Given the description of an element on the screen output the (x, y) to click on. 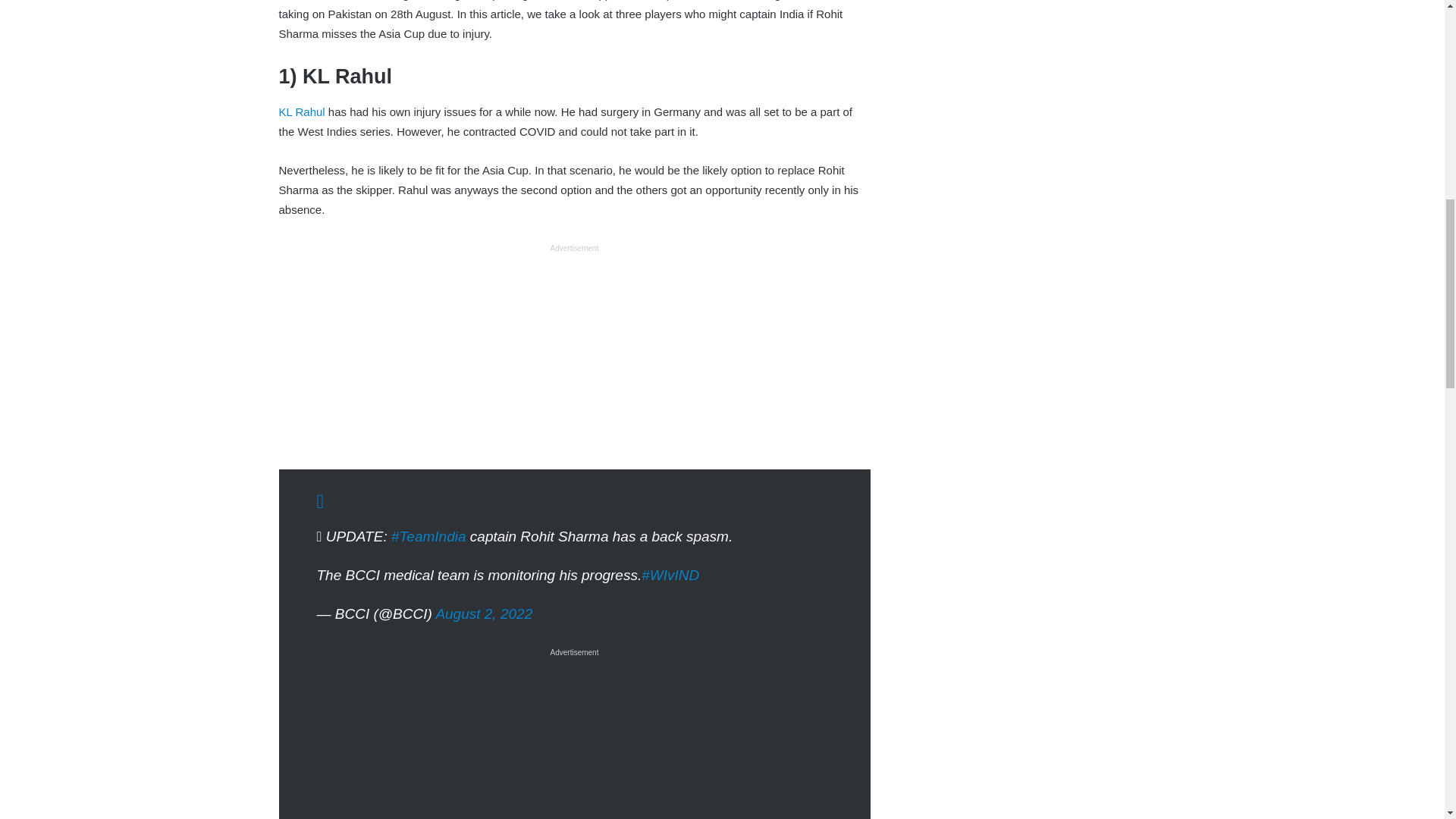
KL Rahul (301, 111)
August 2, 2022 (483, 613)
